Given the description of an element on the screen output the (x, y) to click on. 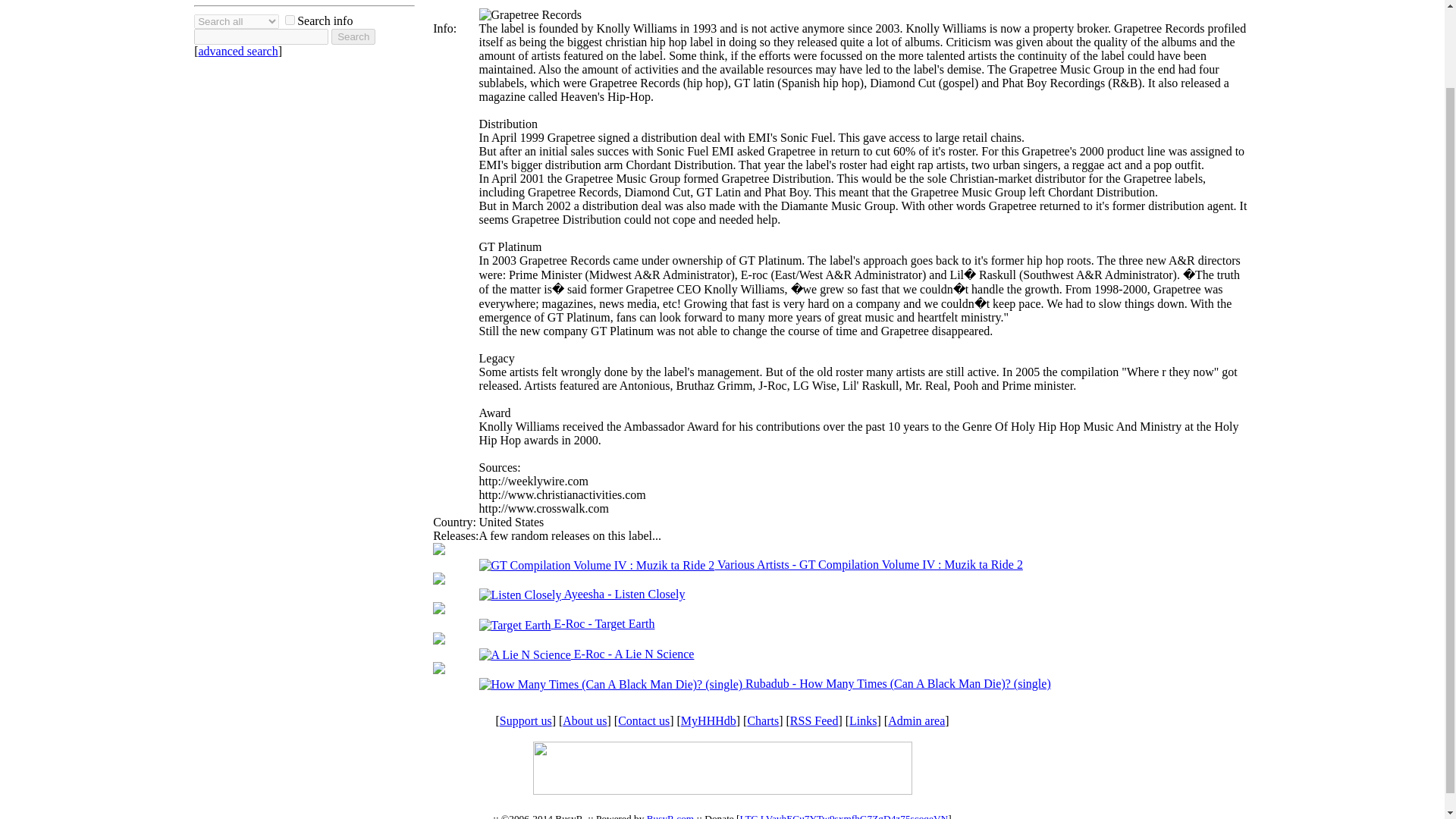
Various Artists - GT Compilation Volume IV : Muzik ta Ride 2 (751, 563)
E-Roc - Target Earth (567, 623)
Support us (525, 720)
Admin area (916, 720)
Search (353, 36)
RSS Feed (814, 720)
MyHHHdb (708, 720)
Charts (762, 720)
advanced search (238, 51)
Ayeesha - Listen Closely (582, 594)
Search (353, 36)
Contact us (643, 720)
E-Roc - A Lie N Science (586, 653)
1 (290, 20)
Links (862, 720)
